Given the description of an element on the screen output the (x, y) to click on. 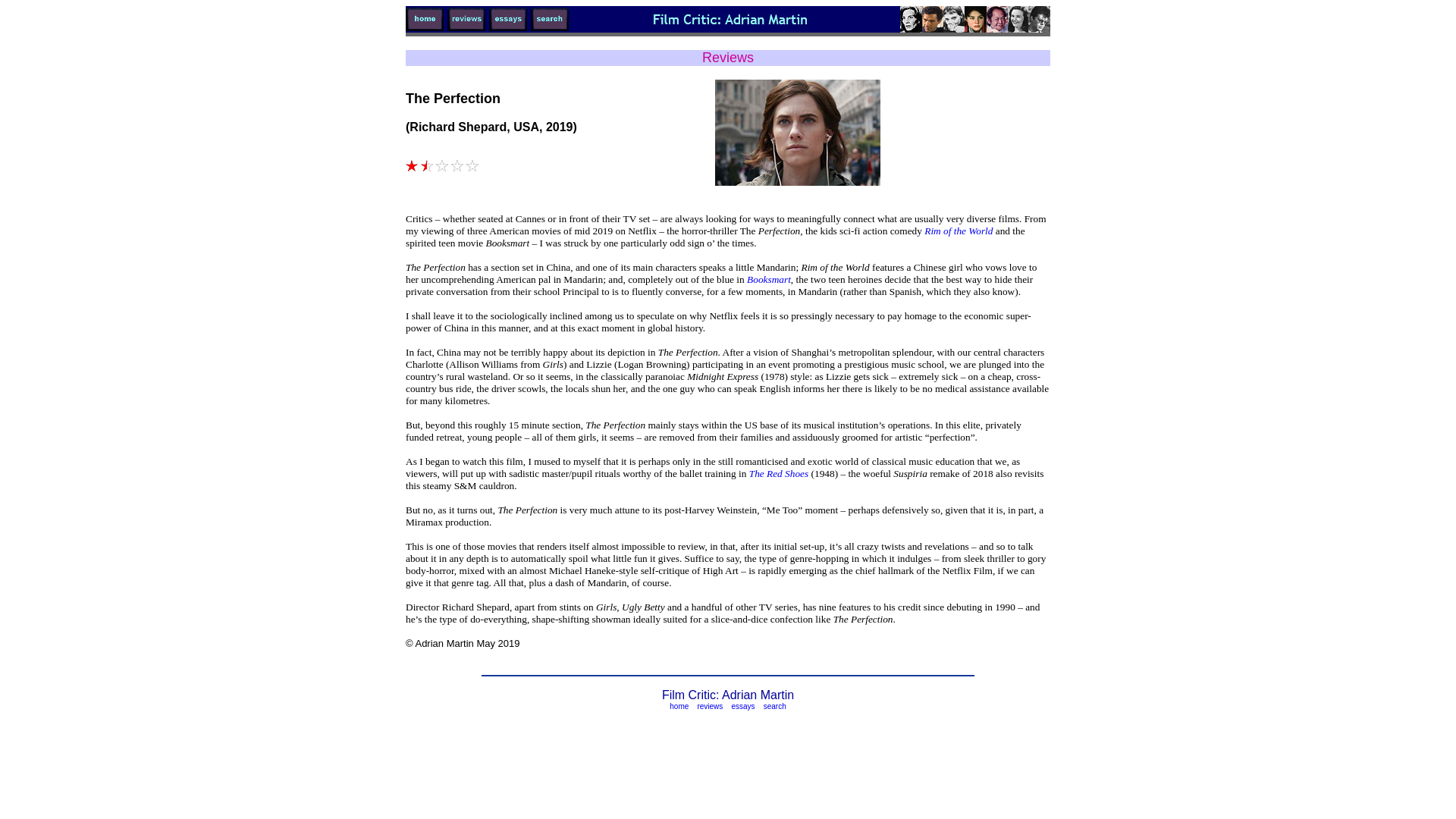
Reviews Element type: text (727, 57)
reviews Element type: text (709, 706)
home Element type: text (678, 706)
Rim of the World Element type: text (958, 230)
essays Element type: text (742, 706)
The Red Shoes Element type: text (778, 473)
search Element type: text (774, 706)
Booksmart Element type: text (768, 279)
